Given the description of an element on the screen output the (x, y) to click on. 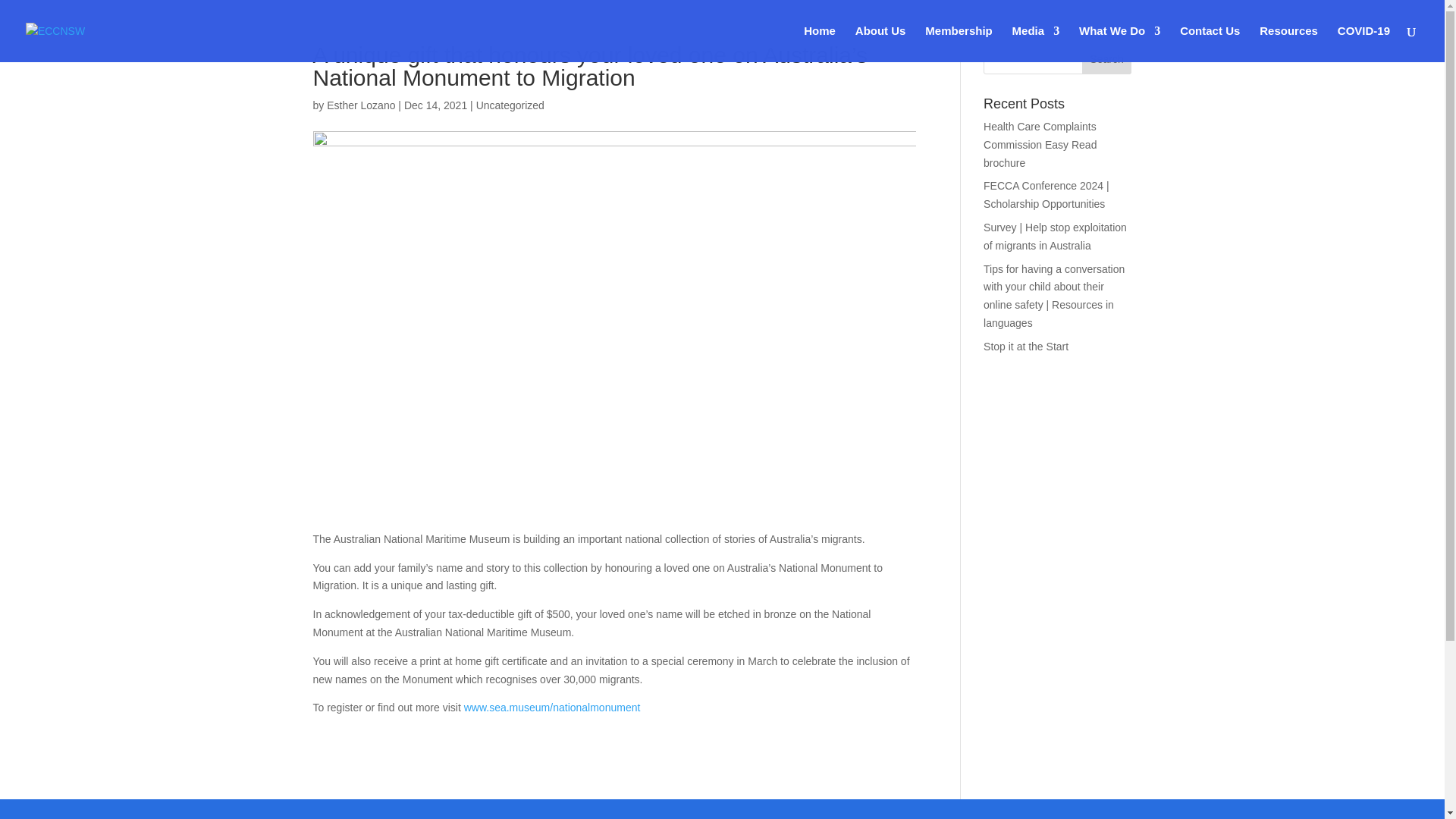
Uncategorized (510, 105)
Resources (1288, 43)
Search (1106, 59)
Search (1106, 59)
Stop it at the Start (1026, 346)
Home (819, 43)
COVID-19 (1364, 43)
Contact Us (1209, 43)
What We Do (1119, 43)
Esther Lozano (360, 105)
Membership (957, 43)
Posts by Esther Lozano (360, 105)
Media (1035, 43)
Health Care Complaints Commission Easy Read brochure (1040, 144)
About Us (880, 43)
